Given the description of an element on the screen output the (x, y) to click on. 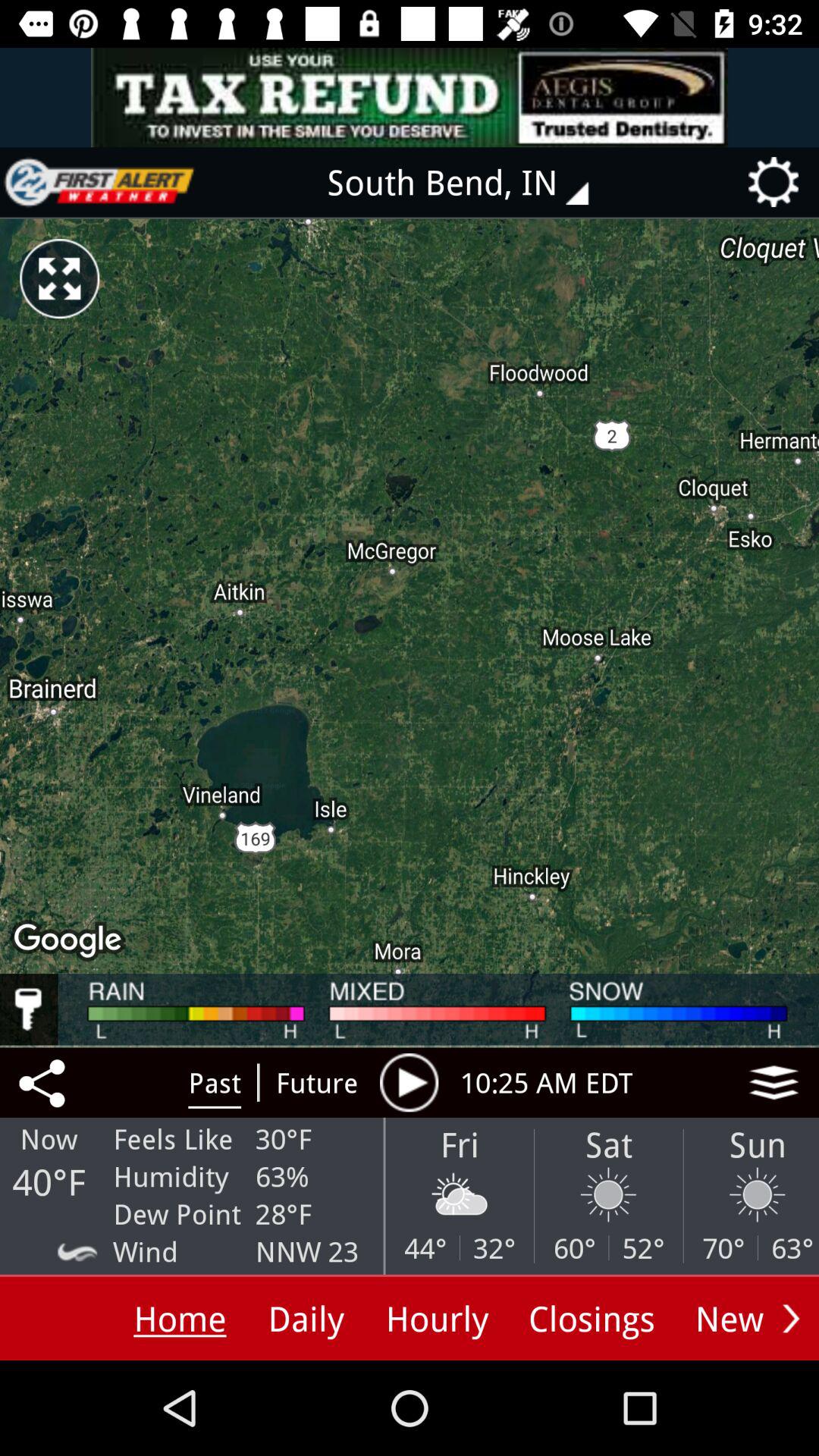
more options (791, 1318)
